Given the description of an element on the screen output the (x, y) to click on. 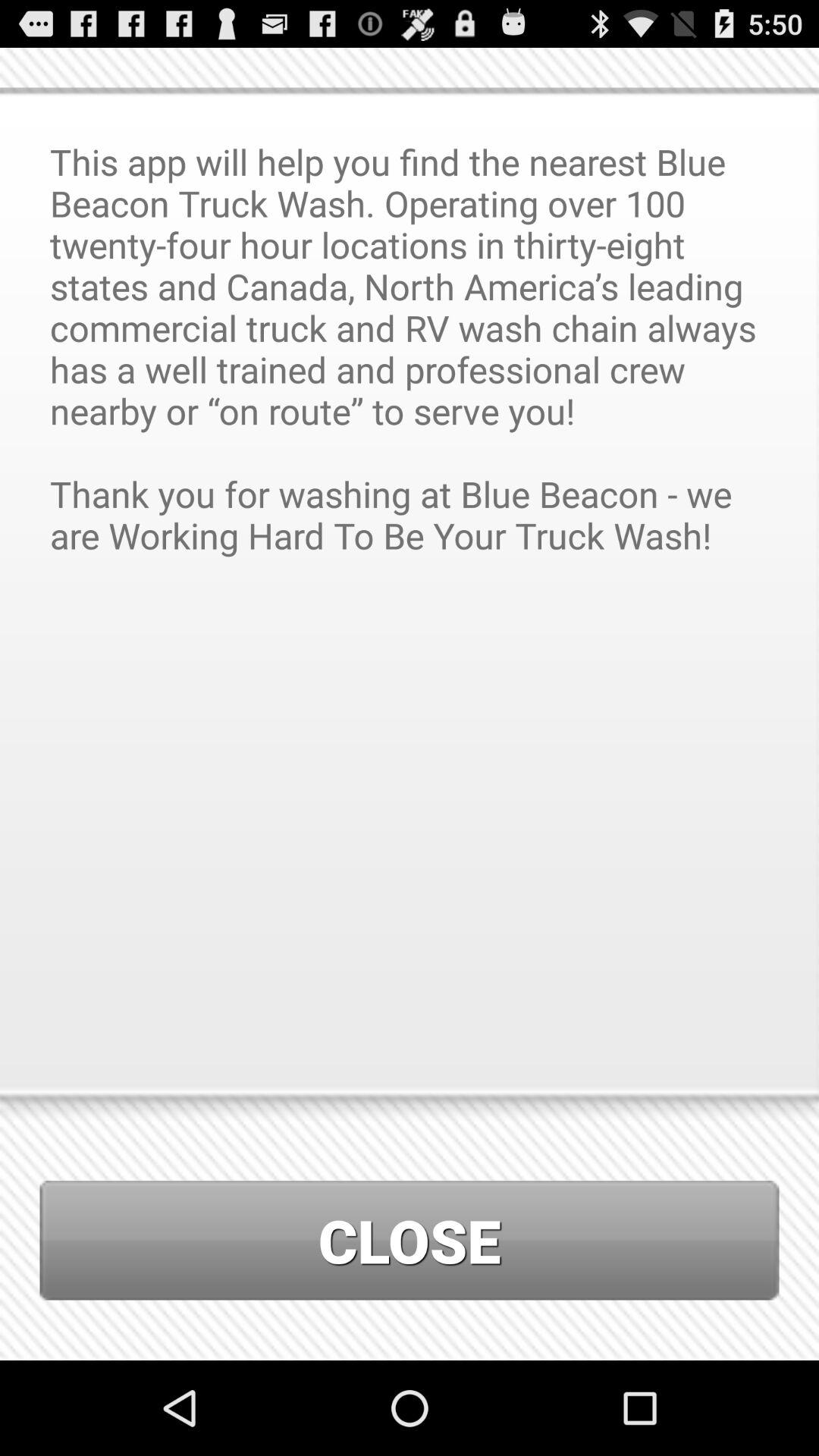
click close icon (409, 1240)
